Given the description of an element on the screen output the (x, y) to click on. 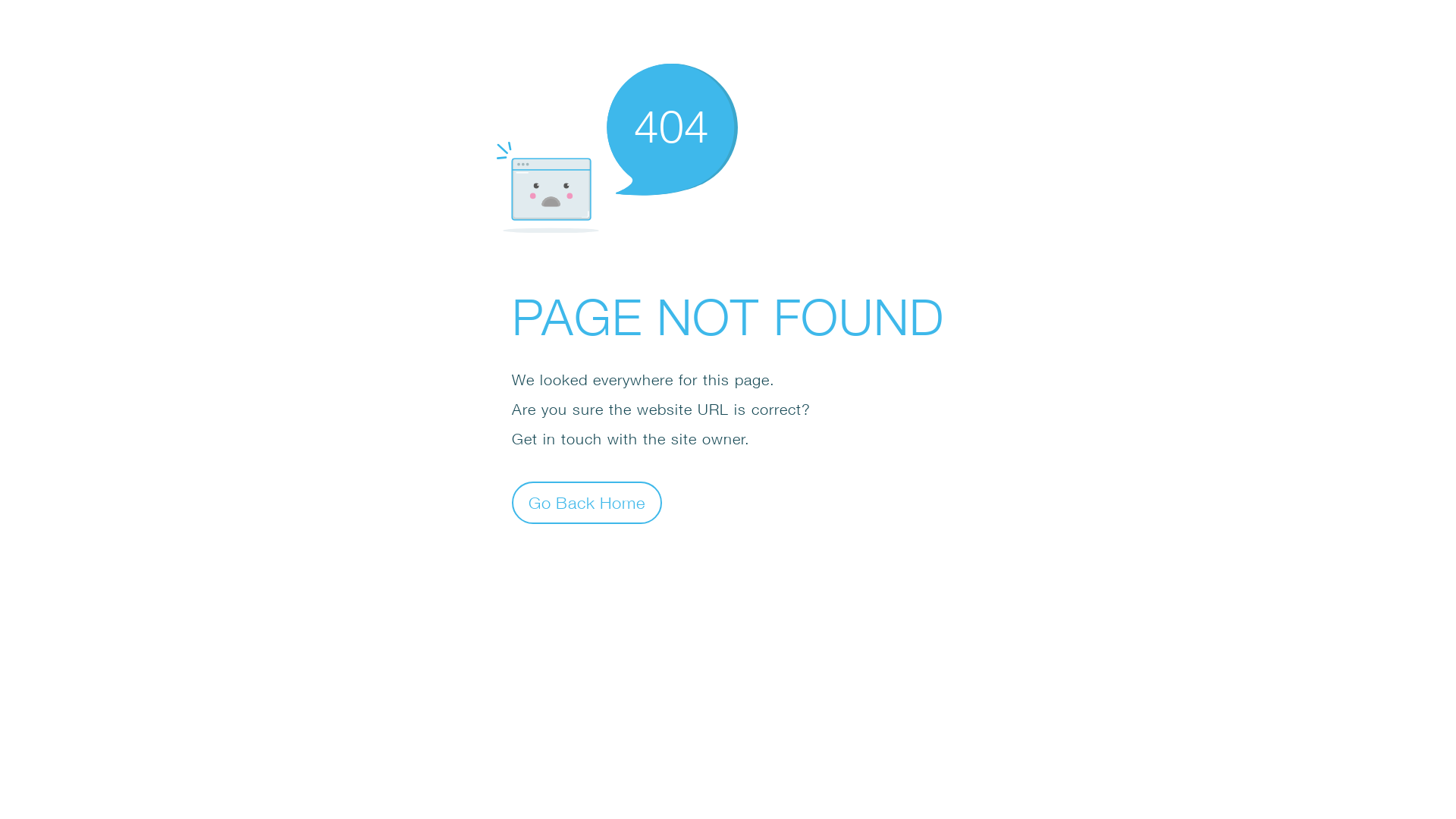
Go Back Home Element type: text (586, 502)
